Given the description of an element on the screen output the (x, y) to click on. 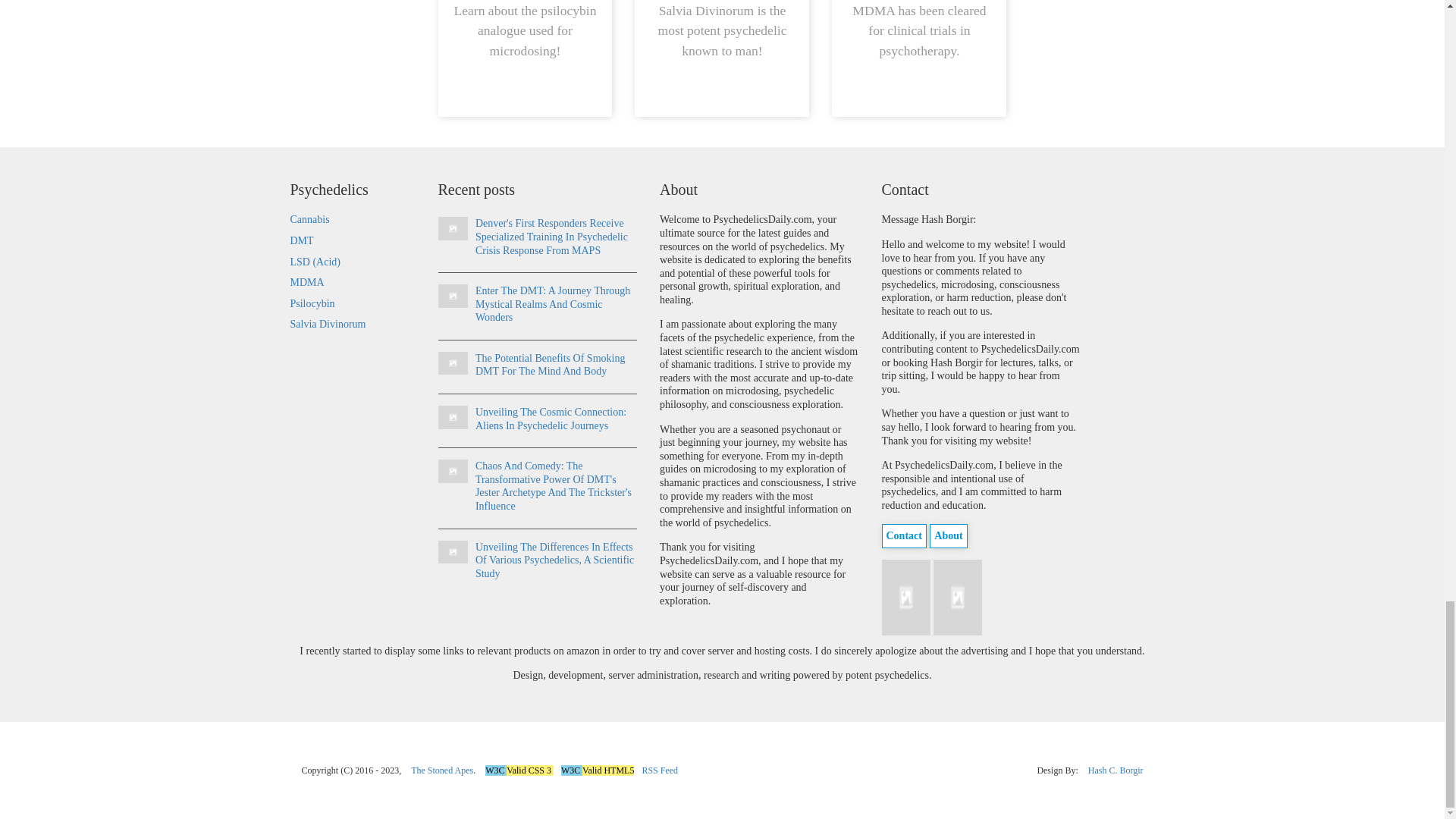
Psychedelics Daily on Facebook (906, 595)
The Potential Benefits Of Smoking DMT For The Mind And Body (452, 363)
